Given the description of an element on the screen output the (x, y) to click on. 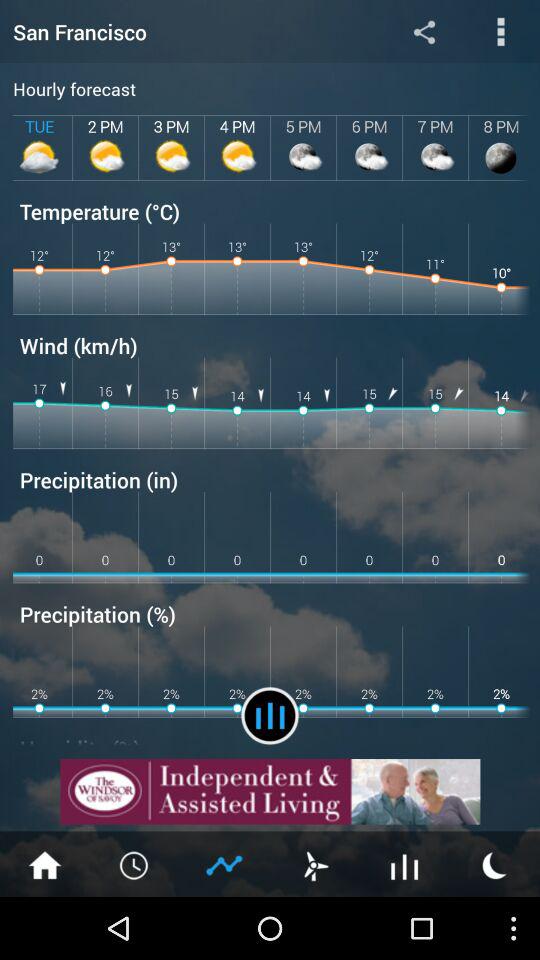
go to home page (45, 864)
